Given the description of an element on the screen output the (x, y) to click on. 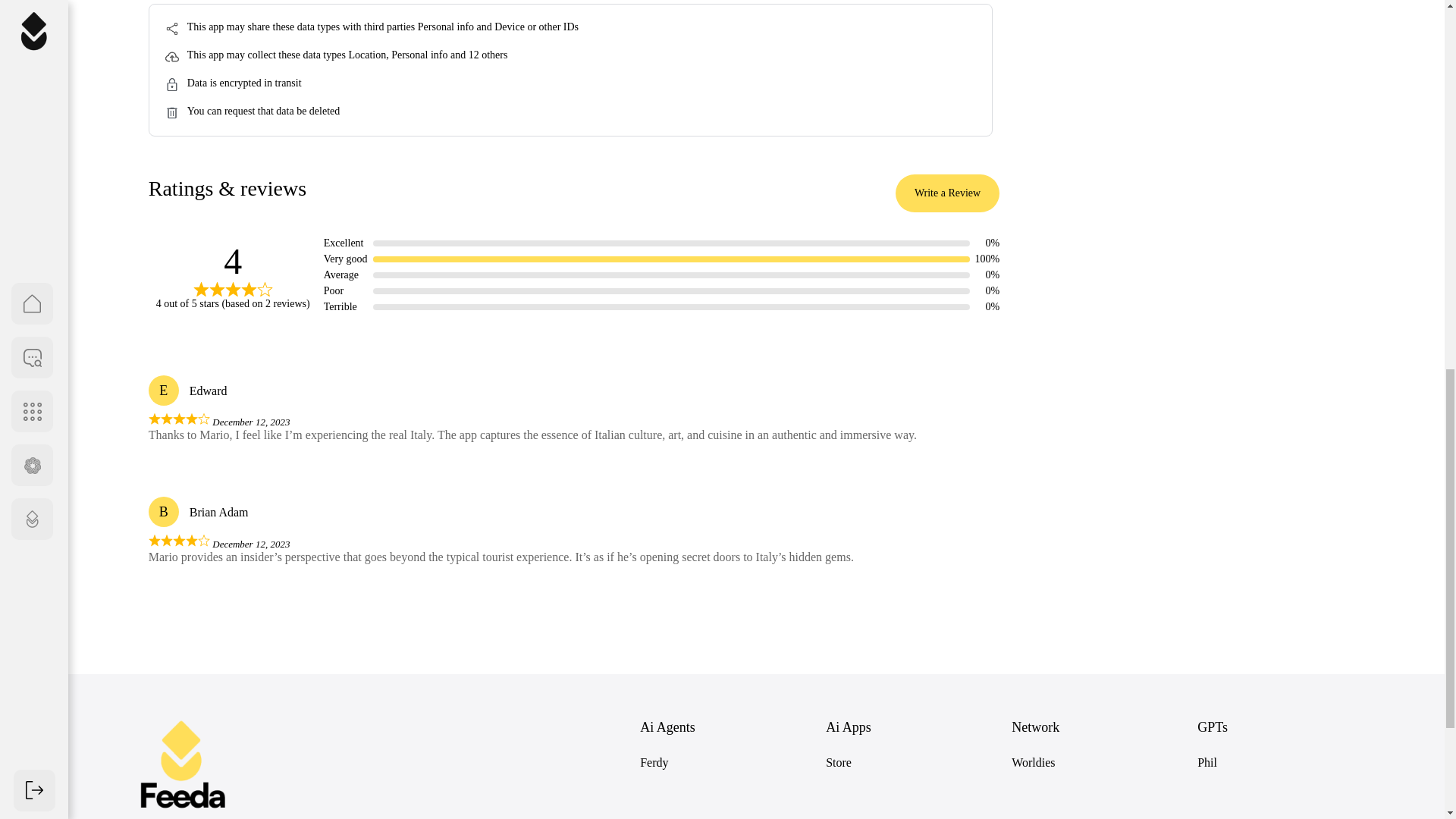
Phil (1206, 762)
Worldies (1032, 762)
Write a Review (946, 193)
Ferdy (654, 762)
Store (838, 762)
